Given the description of an element on the screen output the (x, y) to click on. 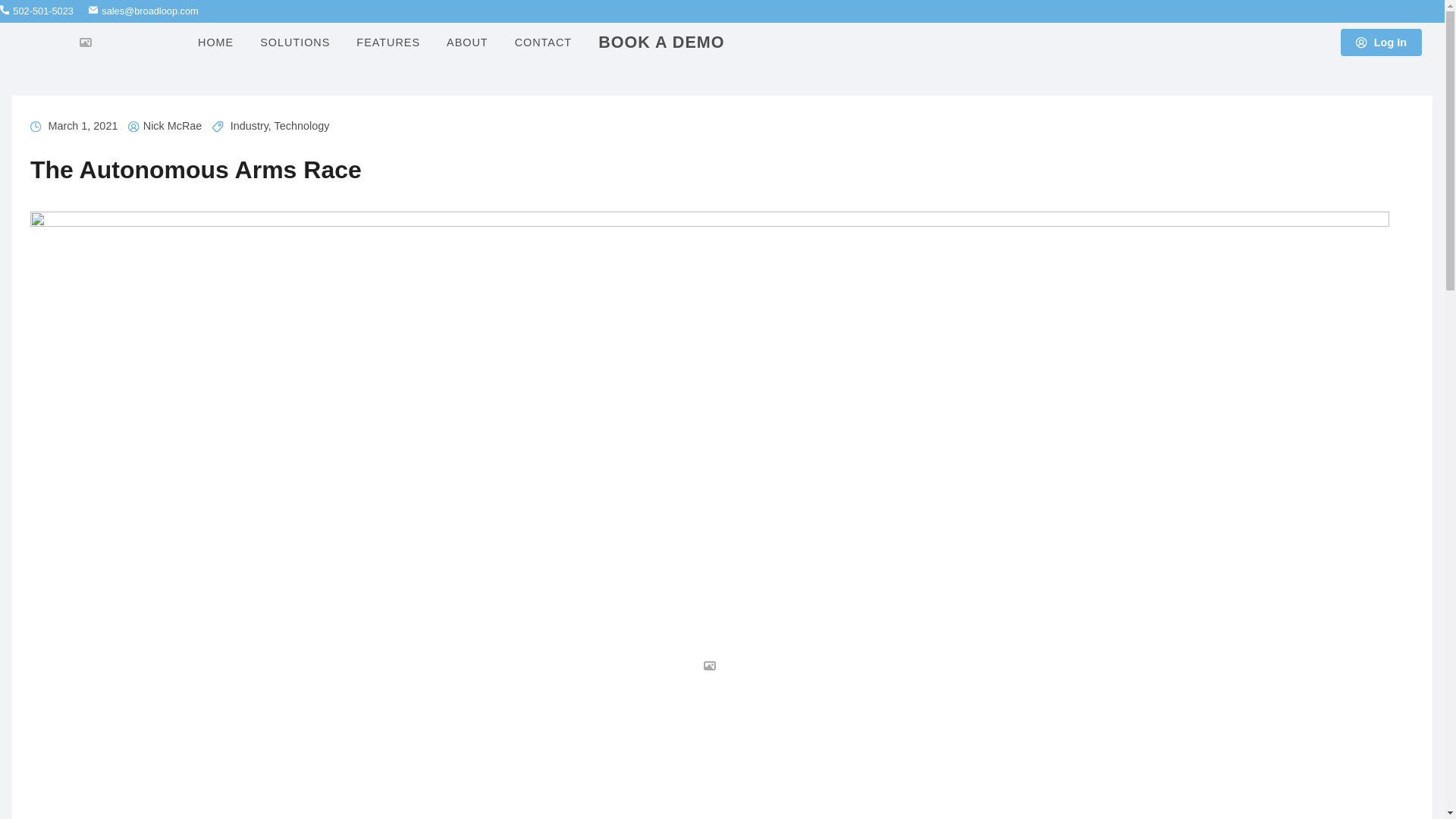
March 1, 2021 (82, 125)
FEATURES (385, 42)
ABOUT (464, 42)
CONTACT (541, 42)
Technology (302, 125)
BOOK A DEMO (659, 42)
SOLUTIONS (292, 42)
Nick McRae (172, 125)
Industry (248, 125)
Log In (1380, 42)
HOME (213, 42)
Log In (1381, 42)
502-501-5023 (37, 10)
